Given the description of an element on the screen output the (x, y) to click on. 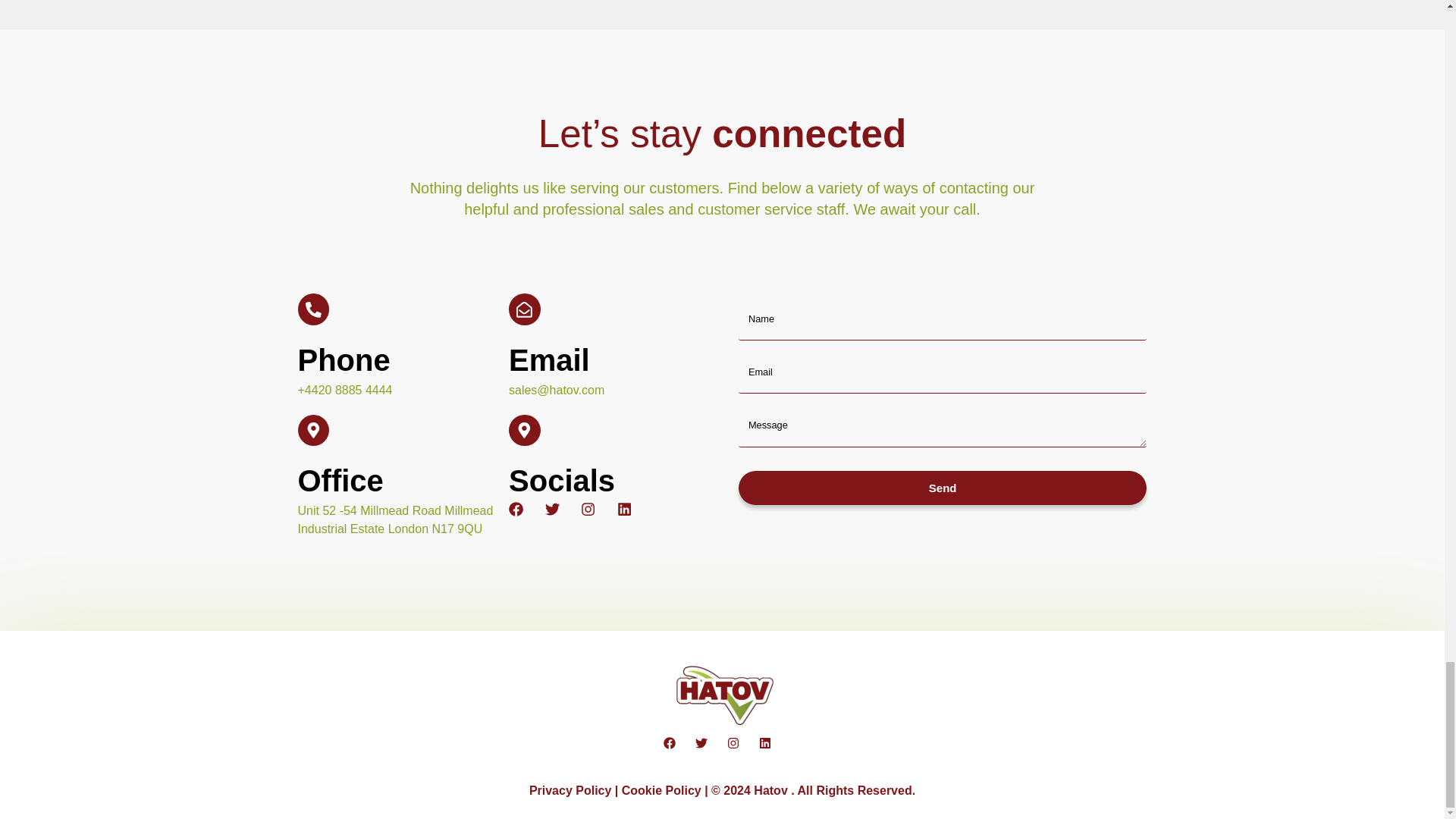
Phone (343, 359)
Send (942, 487)
Office (339, 480)
Email (548, 359)
